Given the description of an element on the screen output the (x, y) to click on. 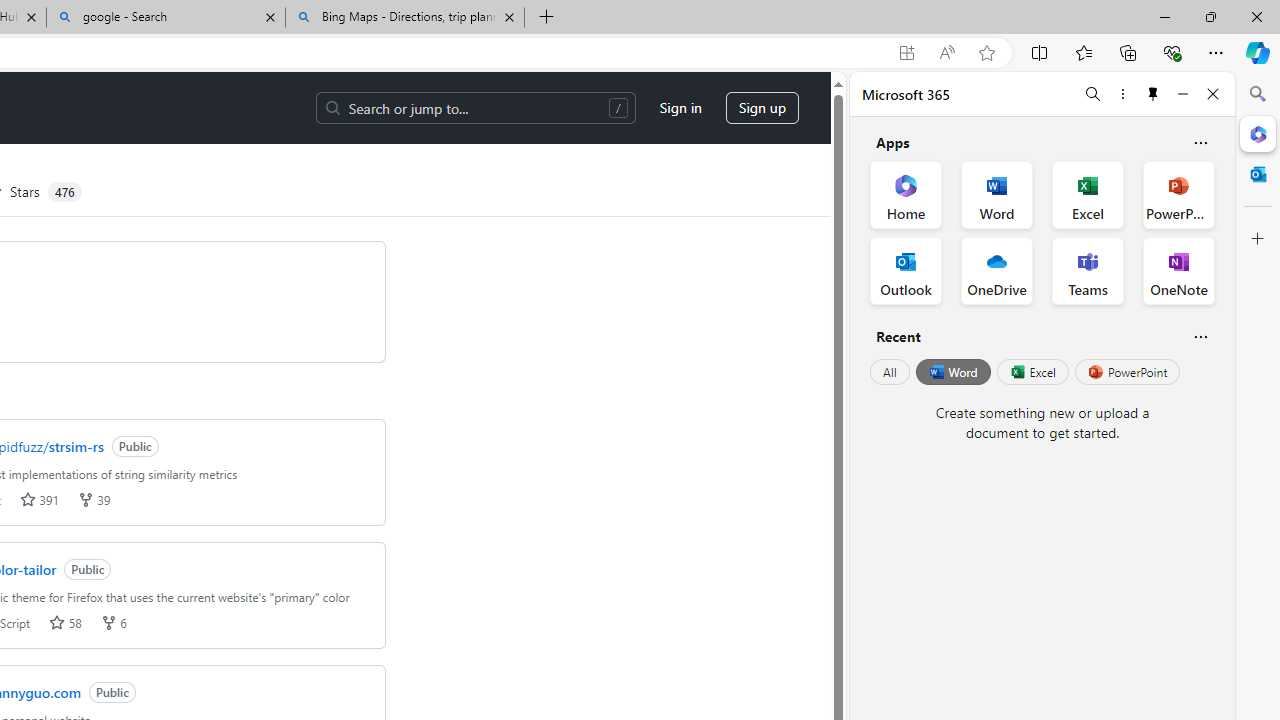
Word Office App (996, 194)
PowerPoint (1127, 372)
PowerPoint Office App (1178, 194)
Is this helpful? (1200, 336)
OneNote Office App (1178, 270)
stars 58 (64, 622)
OneDrive Office App (996, 270)
